Given the description of an element on the screen output the (x, y) to click on. 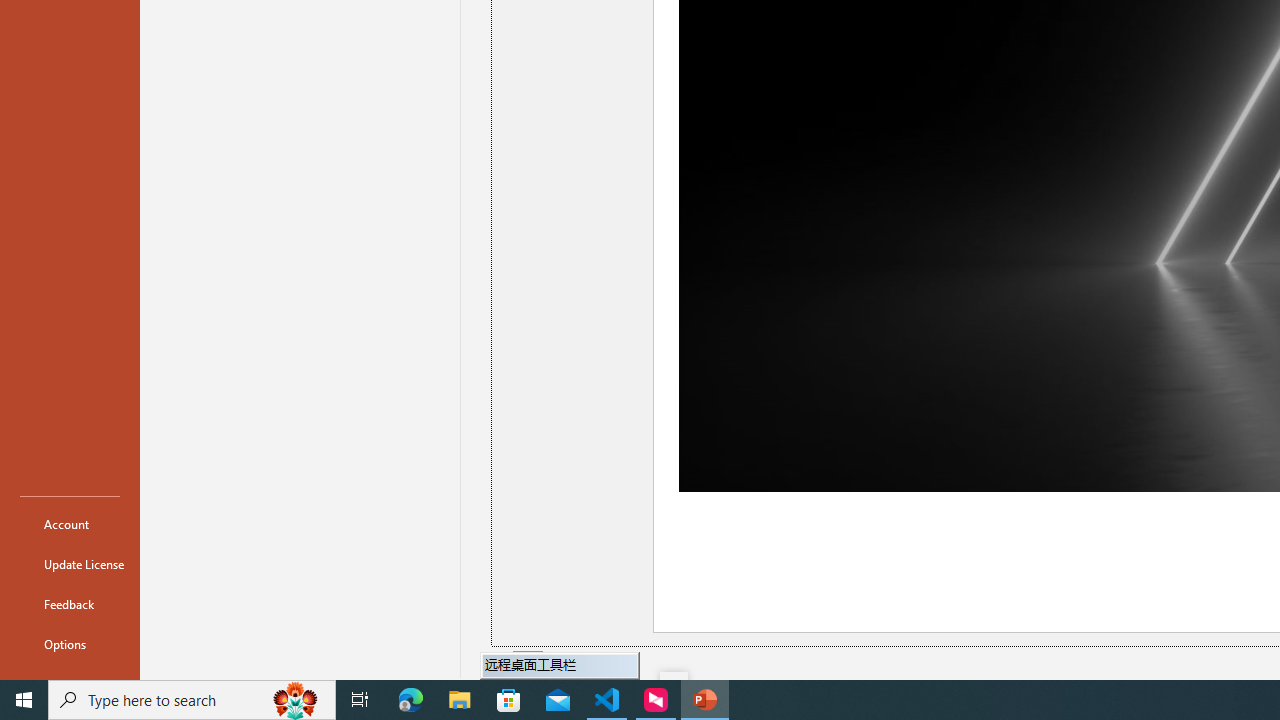
Feedback (69, 603)
Update License (69, 563)
Current Page (527, 662)
Next Page (579, 662)
Previous Page (502, 662)
Account (69, 523)
Options (69, 643)
